Given the description of an element on the screen output the (x, y) to click on. 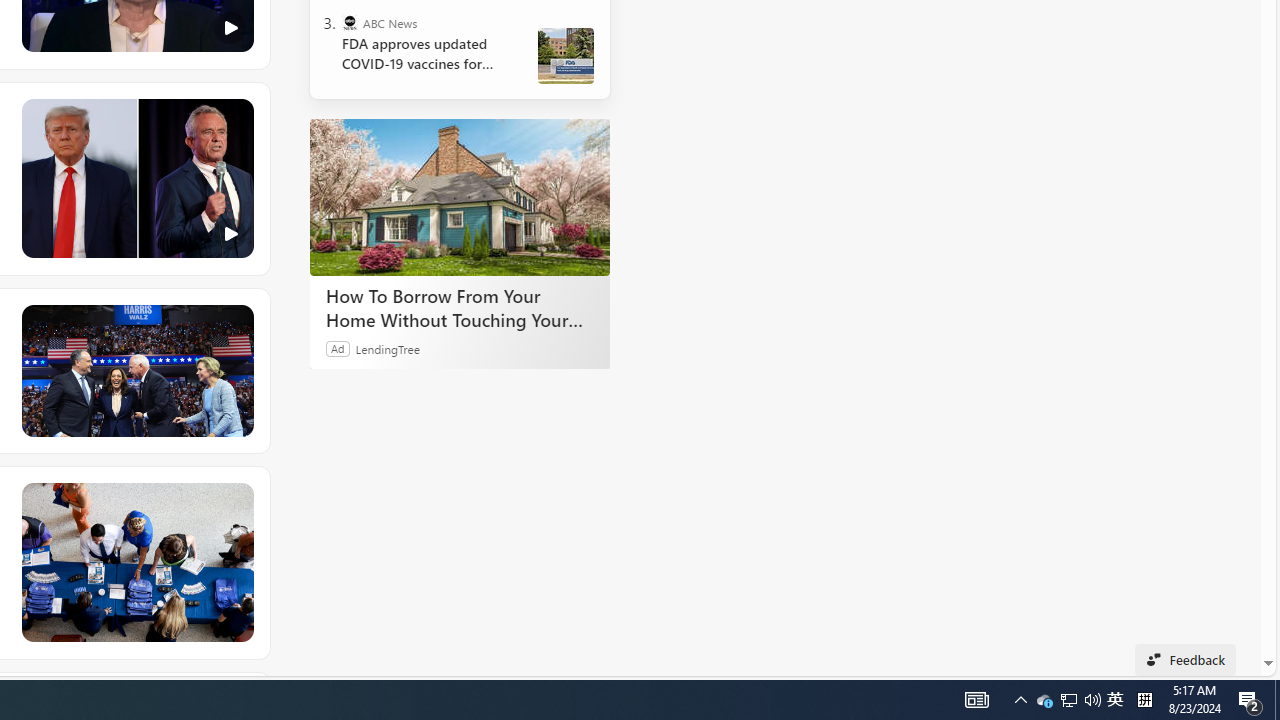
ABC News (349, 22)
Ad (338, 348)
Feedback (1185, 659)
How To Borrow From Your Home Without Touching Your Mortgage (459, 307)
How To Borrow From Your Home Without Touching Your Mortgage (459, 196)
Class: hero-image (136, 179)
See more (239, 497)
LendingTree (387, 348)
